Given the description of an element on the screen output the (x, y) to click on. 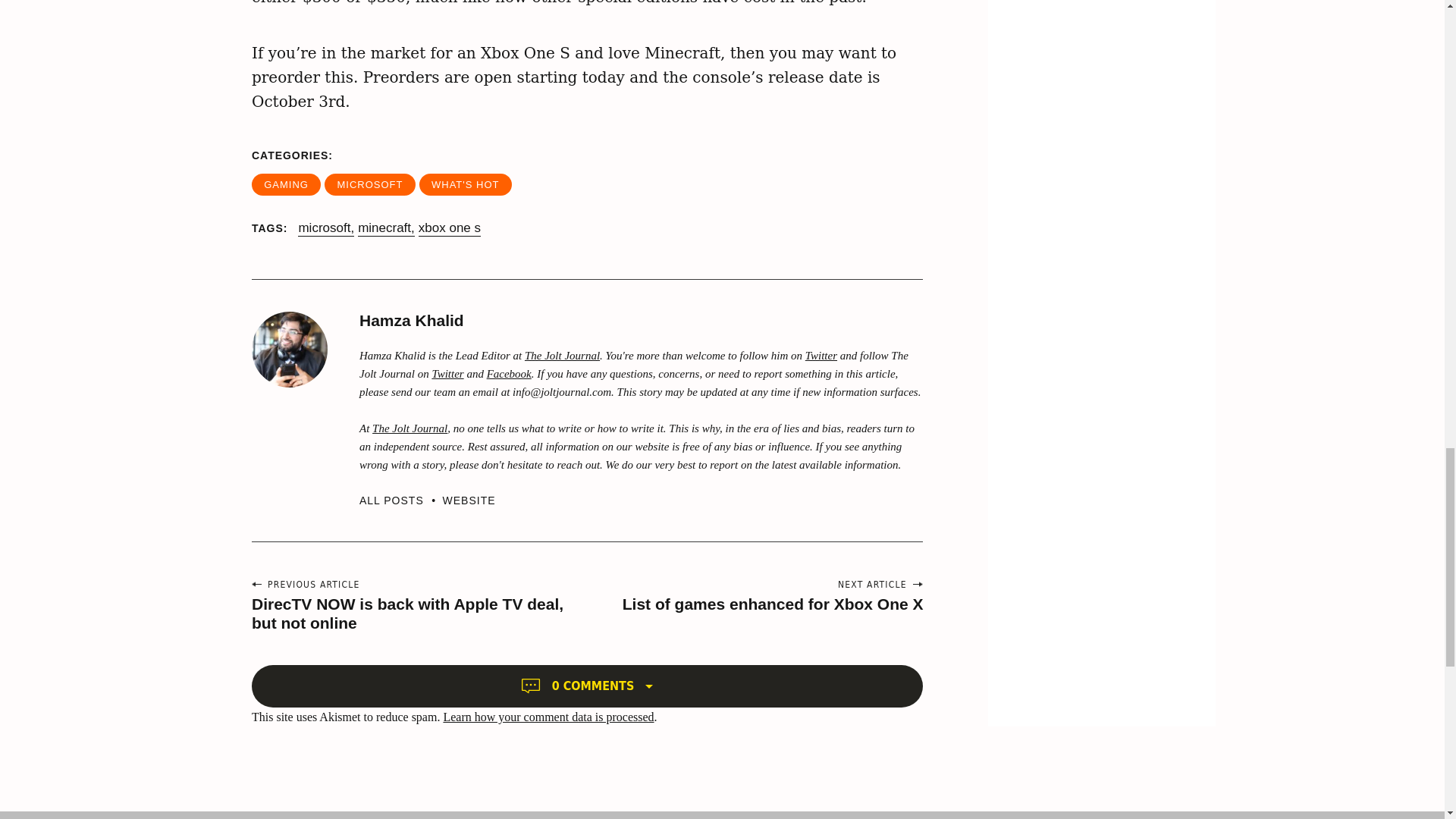
microsoft (325, 228)
xbox one s (449, 228)
WHAT'S HOT (465, 184)
GAMING (285, 184)
Twitter (821, 355)
Facebook (508, 373)
Twitter (446, 373)
View all posts by Hamza Khalid (400, 500)
minecraft (386, 228)
The Jolt Journal (561, 355)
